Given the description of an element on the screen output the (x, y) to click on. 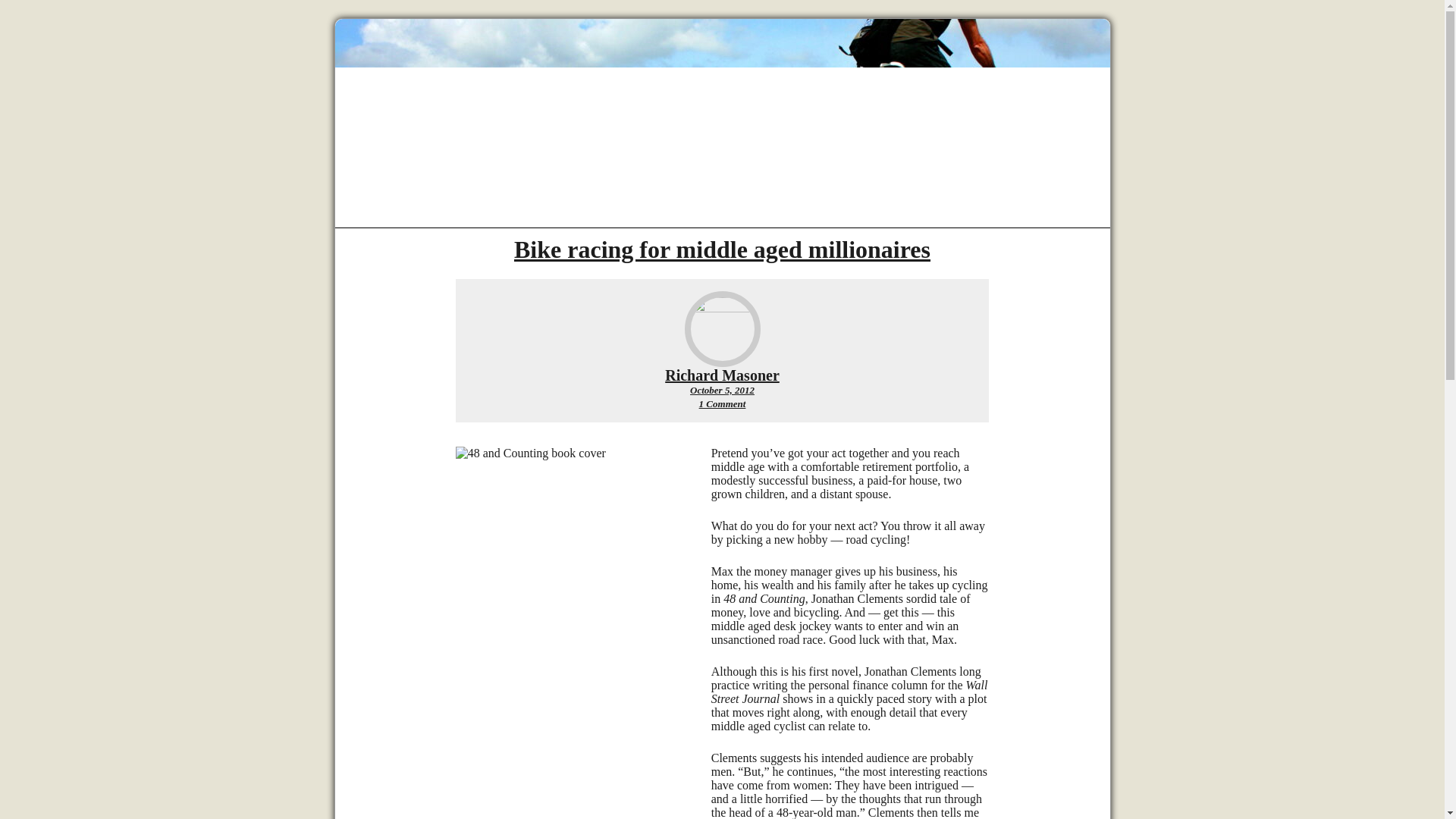
View all posts by Richard Masoner (721, 375)
October 5, 2012 (721, 403)
Richard Masoner (722, 389)
Skip to content (721, 375)
Cyclelicious (721, 248)
10:13 am (721, 116)
